Given the description of an element on the screen output the (x, y) to click on. 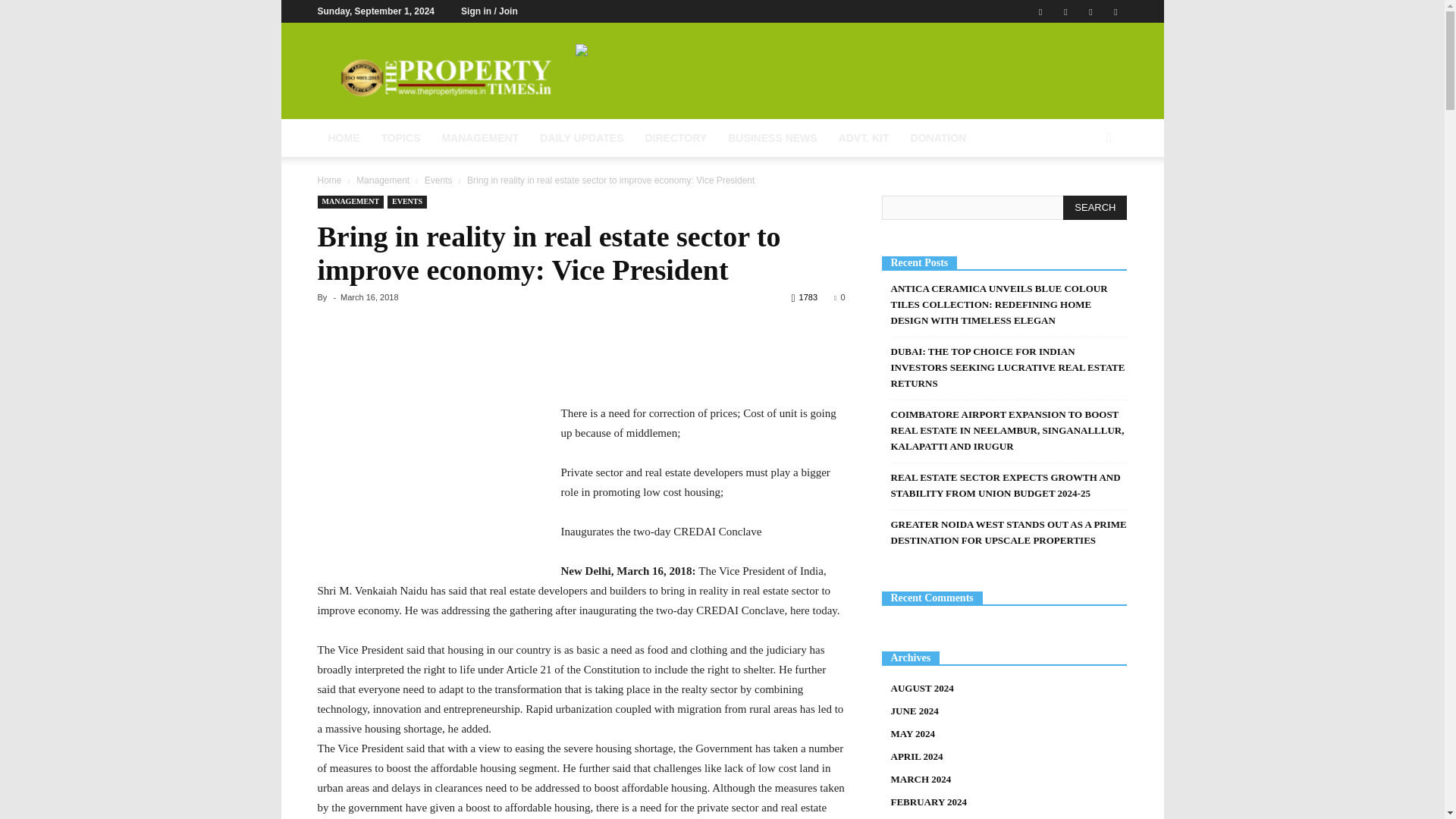
Linkedin (1065, 11)
Search (1094, 207)
Youtube (1114, 11)
Twitter (1090, 11)
Facebook (1040, 11)
